Given the description of an element on the screen output the (x, y) to click on. 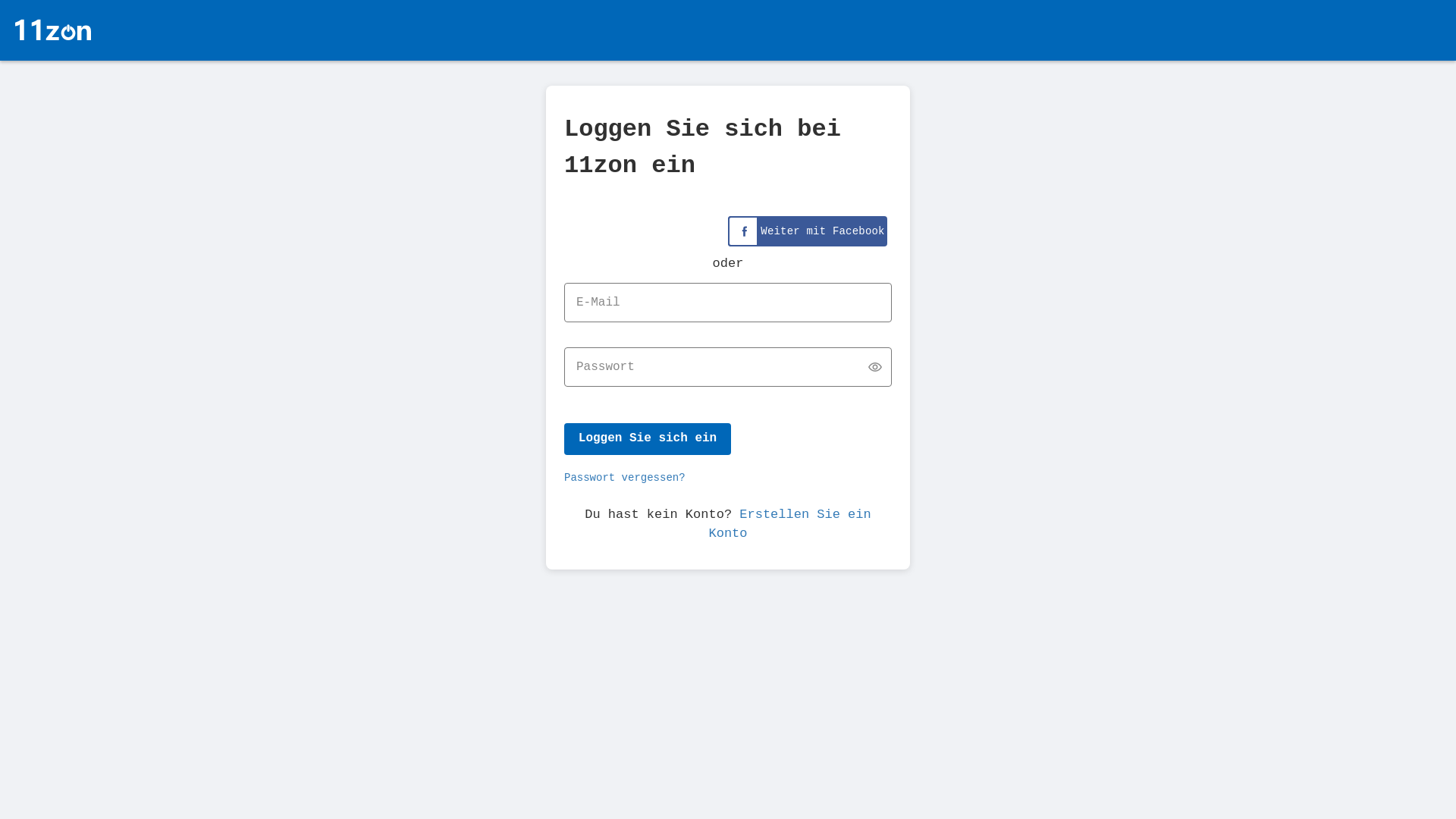
Loggen Sie sich ein Element type: text (647, 439)
Passwort vergessen? Element type: text (624, 477)
Erstellen Sie ein Konto Element type: text (789, 523)
Weiter mit Facebook Element type: text (807, 231)
